Given the description of an element on the screen output the (x, y) to click on. 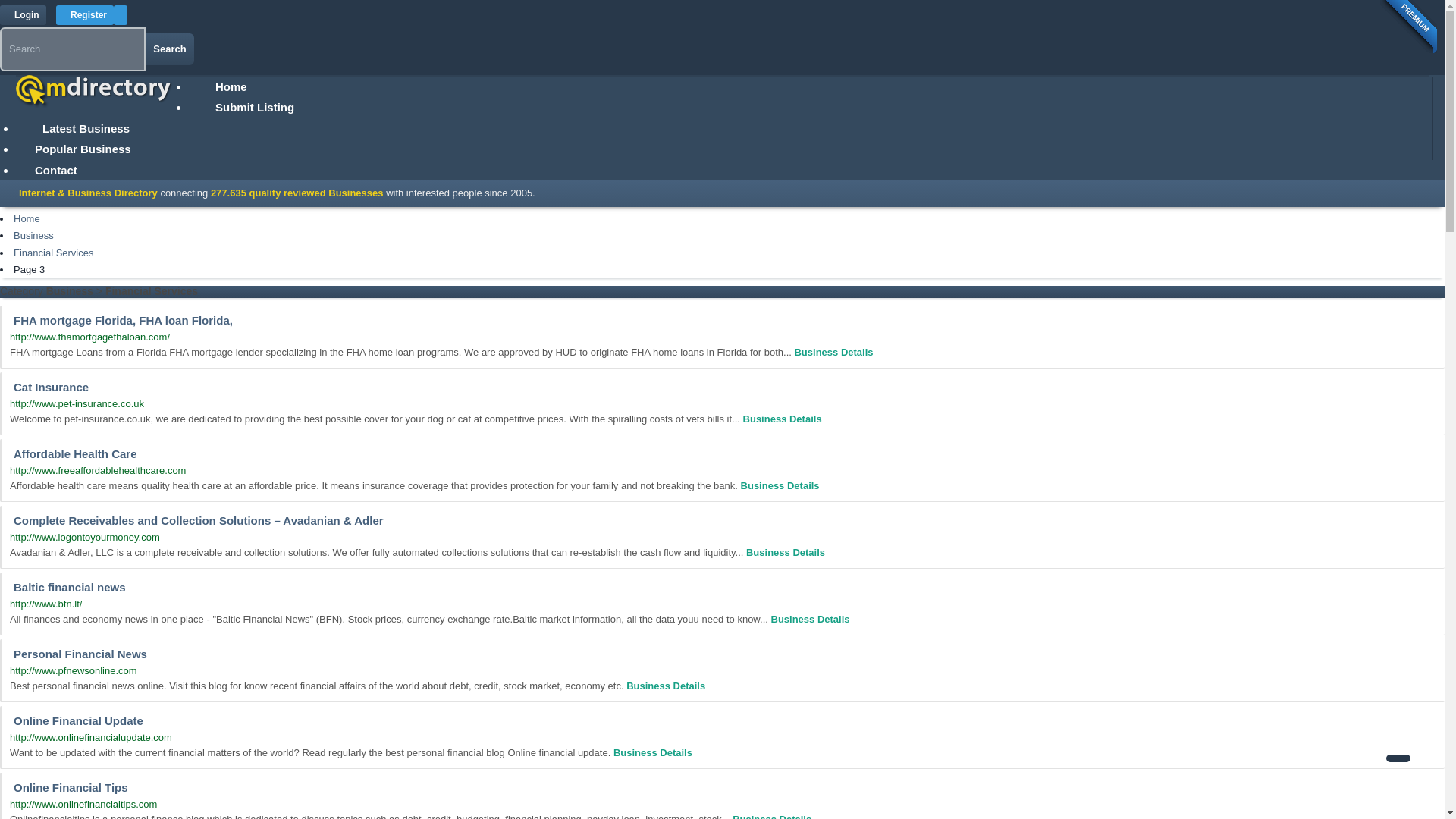
Financial Services (53, 252)
Contact (56, 170)
Business Details (832, 351)
Business Details (780, 485)
More about: Personal Financial News (665, 685)
Submit Listing (254, 107)
Business Details (665, 685)
Home (231, 86)
Home (26, 218)
Business Details (652, 752)
